Given the description of an element on the screen output the (x, y) to click on. 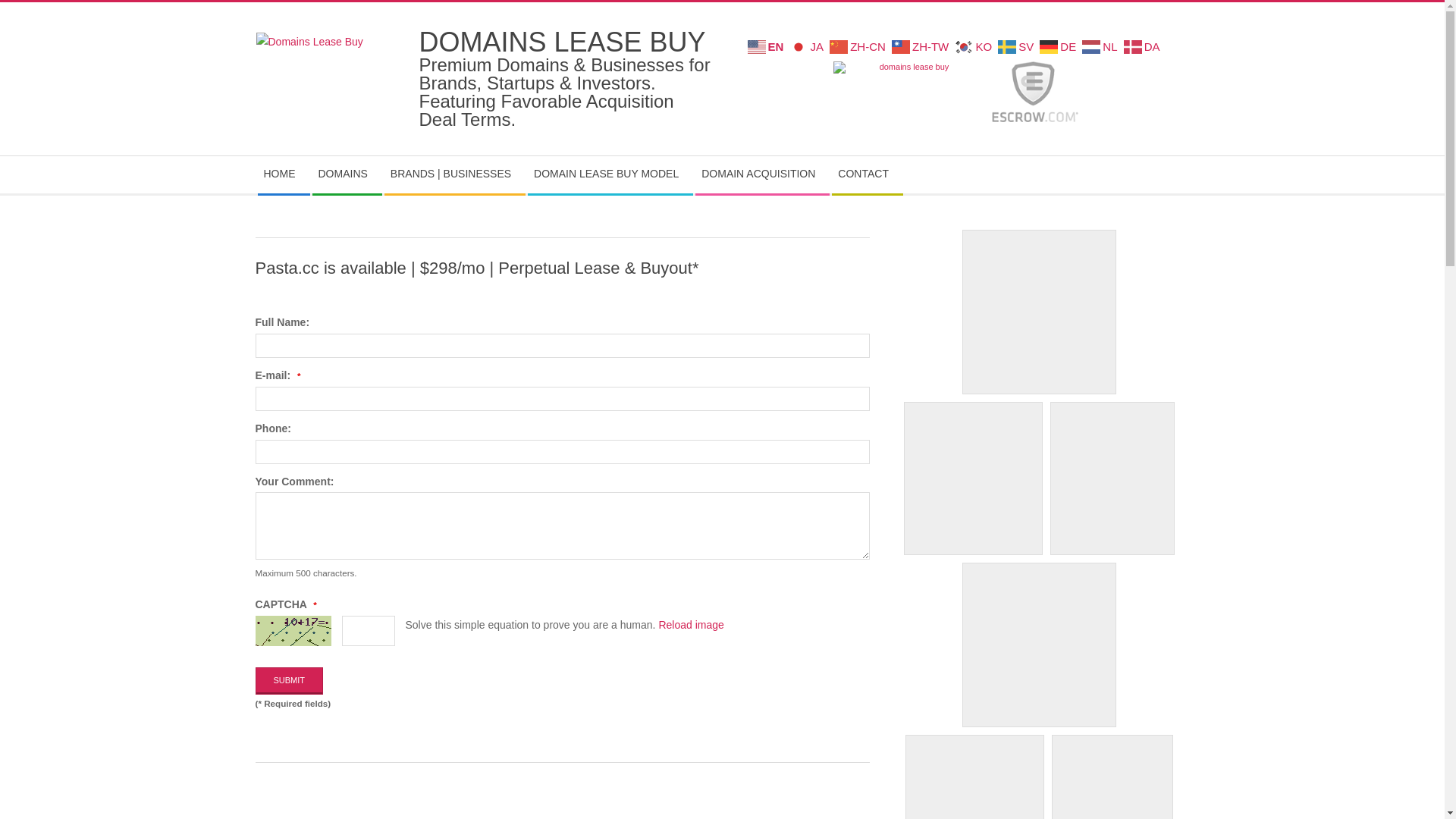
DA Element type: text (1143, 45)
JA Element type: text (808, 45)
CONTACT Element type: text (866, 174)
Reload image Element type: text (690, 624)
DOMAINS Element type: text (346, 174)
ZH-CN Element type: text (859, 45)
Domains Lease Buy . com Element type: hover (907, 91)
NL Element type: text (1101, 45)
DOMAIN ACQUISITION Element type: text (761, 174)
SV Element type: text (1017, 45)
HOME Element type: text (283, 174)
DOMAIN LEASE BUY MODEL Element type: text (609, 174)
BRANDS | BUSINESSES Element type: text (454, 174)
EN Element type: text (767, 45)
KO Element type: text (974, 45)
Submit Element type: text (288, 680)
DE Element type: text (1059, 45)
ZH-TW Element type: text (921, 45)
